Given the description of an element on the screen output the (x, y) to click on. 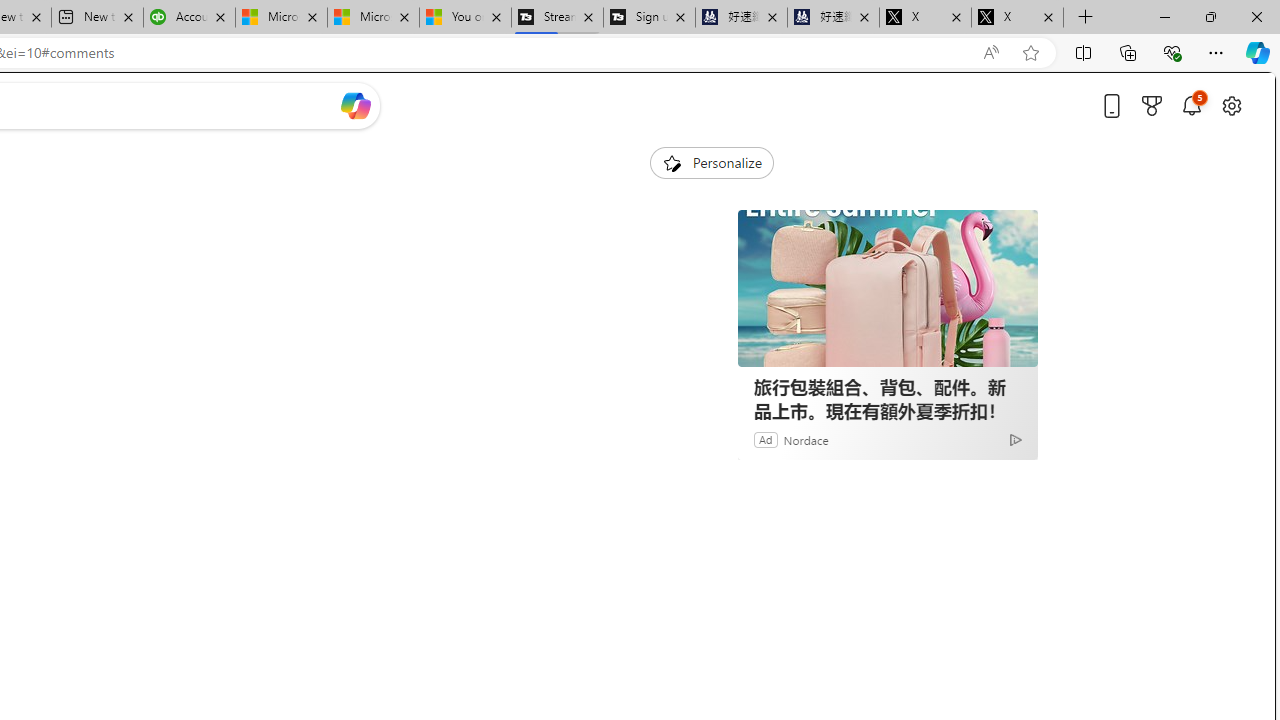
Open settings (1231, 105)
Personalize (711, 162)
Accounting Software for Accountants, CPAs and Bookkeepers (189, 17)
To get missing image descriptions, open the context menu. (671, 162)
